Given the description of an element on the screen output the (x, y) to click on. 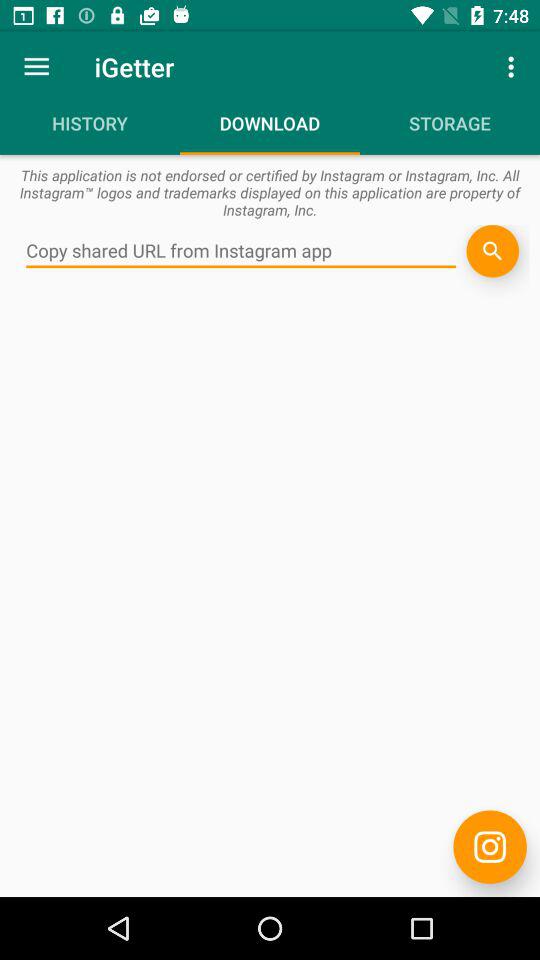
post to instagram (489, 846)
